Given the description of an element on the screen output the (x, y) to click on. 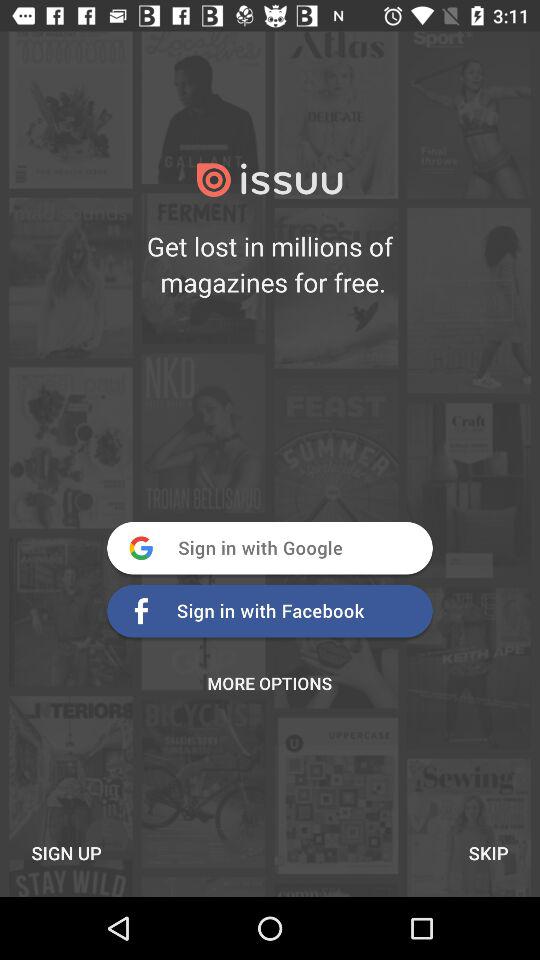
tap the skip at the bottom right corner (488, 852)
